Given the description of an element on the screen output the (x, y) to click on. 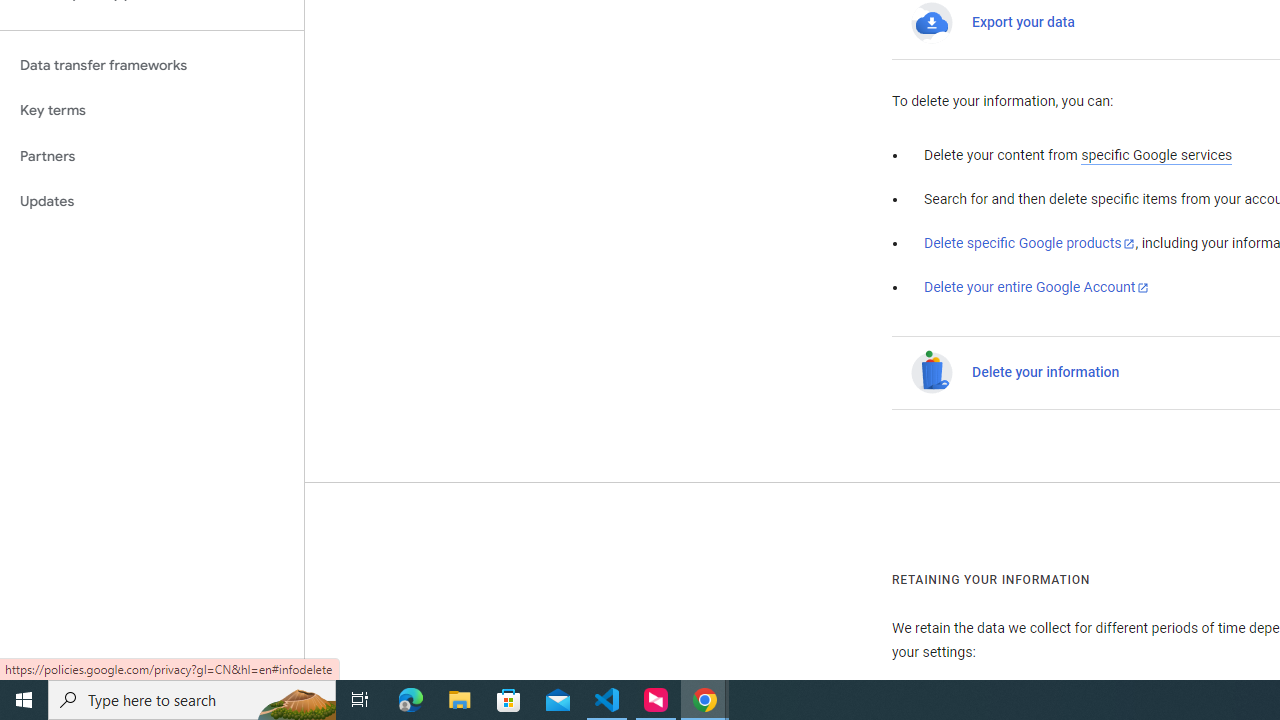
Export your data (1023, 22)
specific Google services (1156, 156)
Delete specific Google products (1030, 243)
Delete your entire Google Account (1036, 287)
Delete your information (1045, 373)
